Given the description of an element on the screen output the (x, y) to click on. 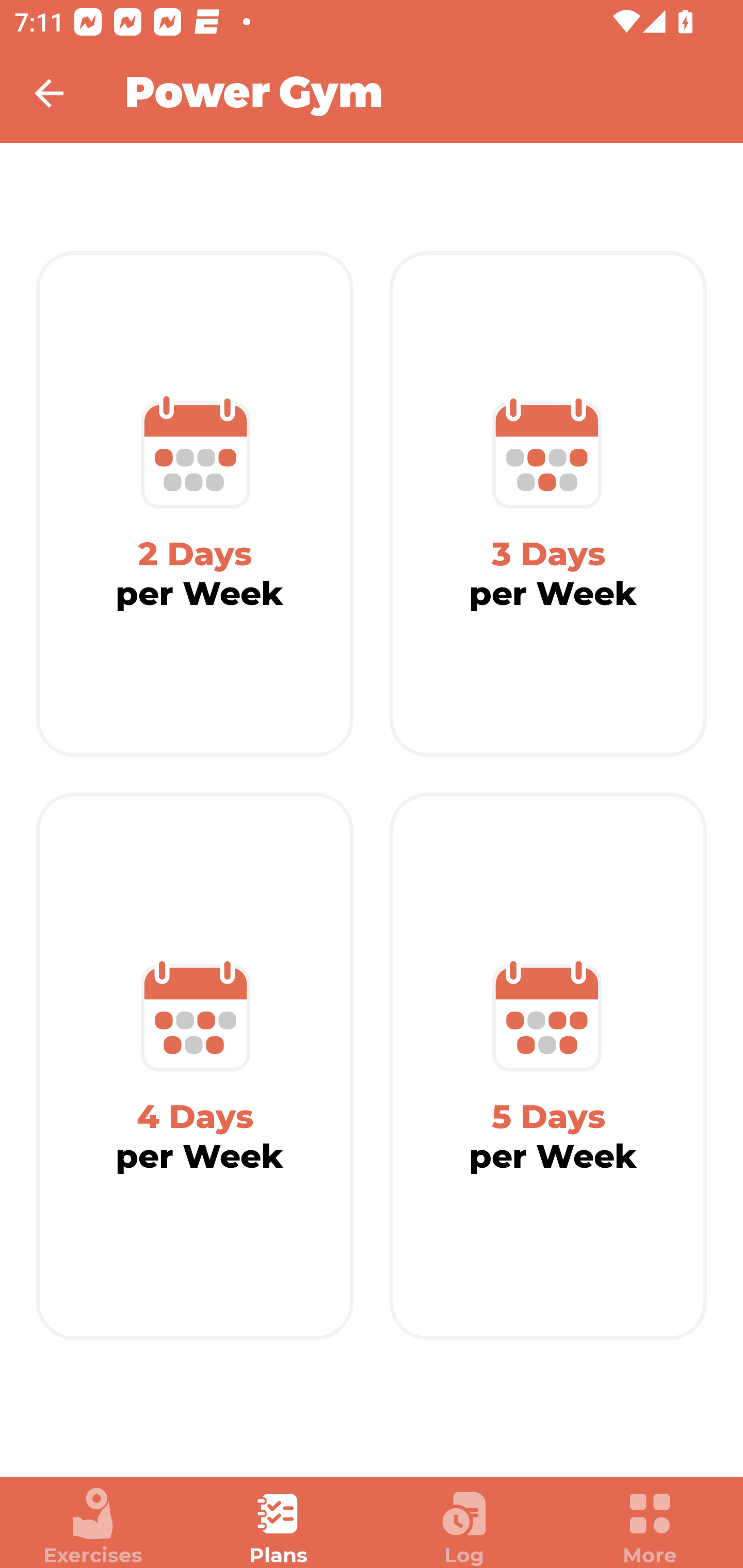
Back (62, 92)
2 Days
 per Week (194, 503)
3 Days
 per Week (547, 503)
4 Days
 per Week (194, 1066)
5 Days
 per Week (547, 1066)
Exercises (92, 1527)
Plans (278, 1527)
Log (464, 1527)
More (650, 1527)
